Given the description of an element on the screen output the (x, y) to click on. 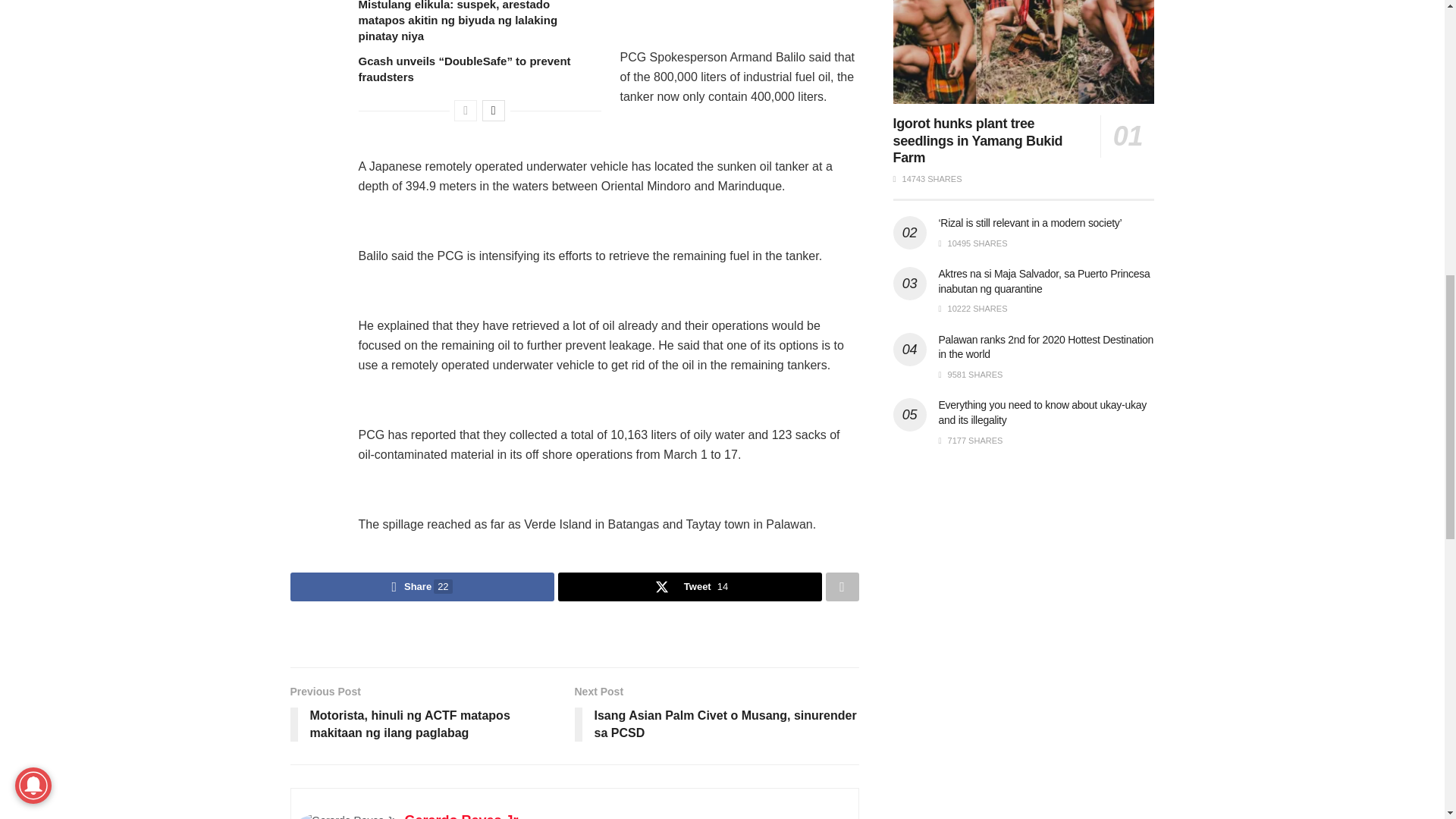
Previous (465, 110)
Next (493, 110)
